Given the description of an element on the screen output the (x, y) to click on. 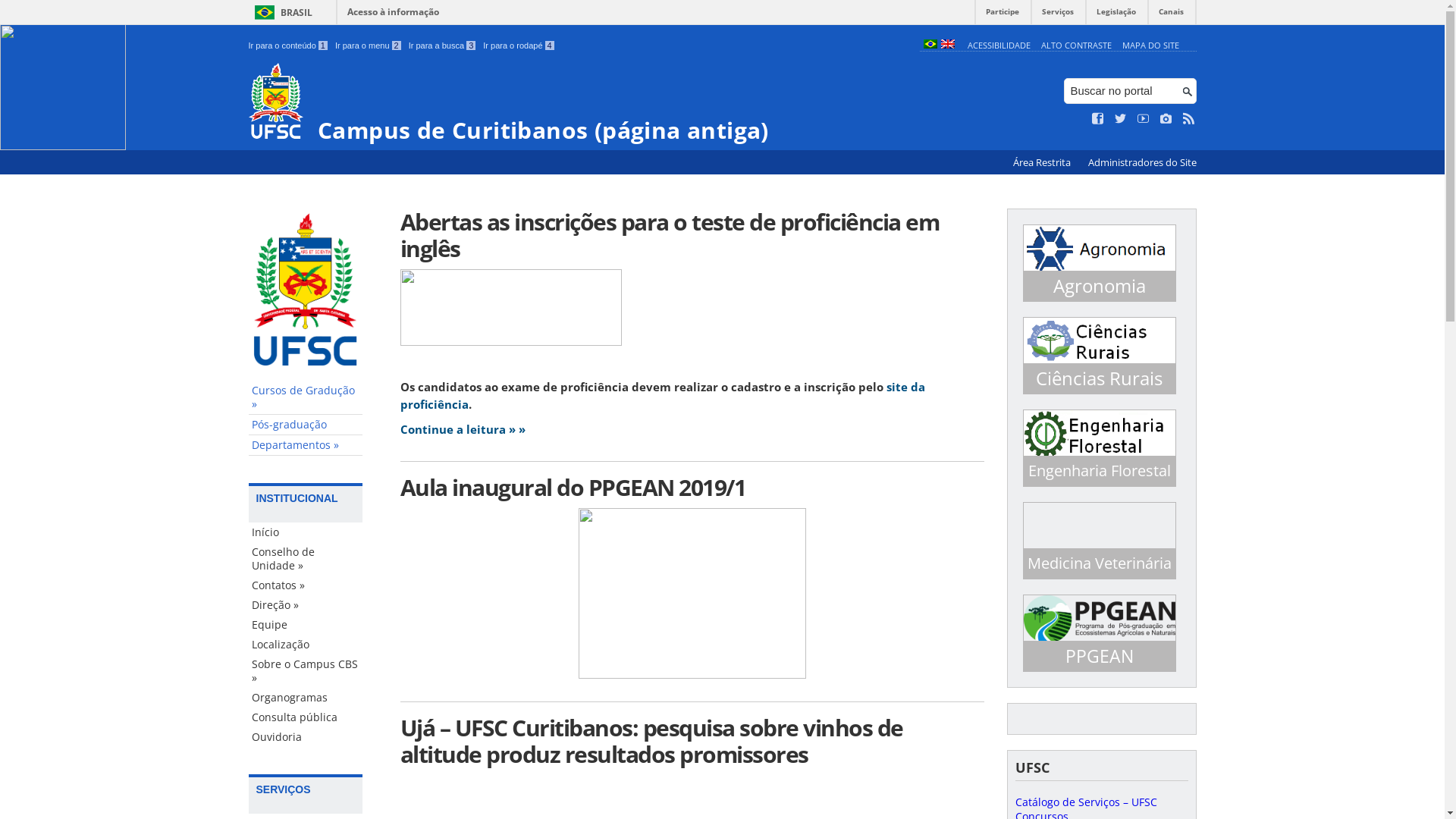
BRASIL Element type: text (280, 12)
Canais Element type: text (1171, 15)
ALTO CONTRASTE Element type: text (1076, 44)
Ir para a busca 3 Element type: text (442, 45)
ACESSIBILIDADE Element type: text (998, 44)
Ouvidoria Element type: text (305, 736)
Administradores do Site Element type: text (1141, 162)
Ir para o menu 2 Element type: text (368, 45)
MAPA DO SITE Element type: text (1150, 44)
Engenharia Florestal Element type: text (1099, 470)
PPGEAN Element type: text (1099, 655)
Siga no Twitter Element type: hover (1120, 118)
Equipe Element type: text (305, 624)
English (en) Element type: hover (946, 44)
Agronomia Element type: text (1099, 285)
Organogramas Element type: text (305, 697)
Curta no Facebook Element type: hover (1098, 118)
Aula inaugural do PPGEAN 2019/1 Element type: text (692, 486)
Veja no Instagram Element type: hover (1166, 118)
Participe Element type: text (1002, 15)
